Given the description of an element on the screen output the (x, y) to click on. 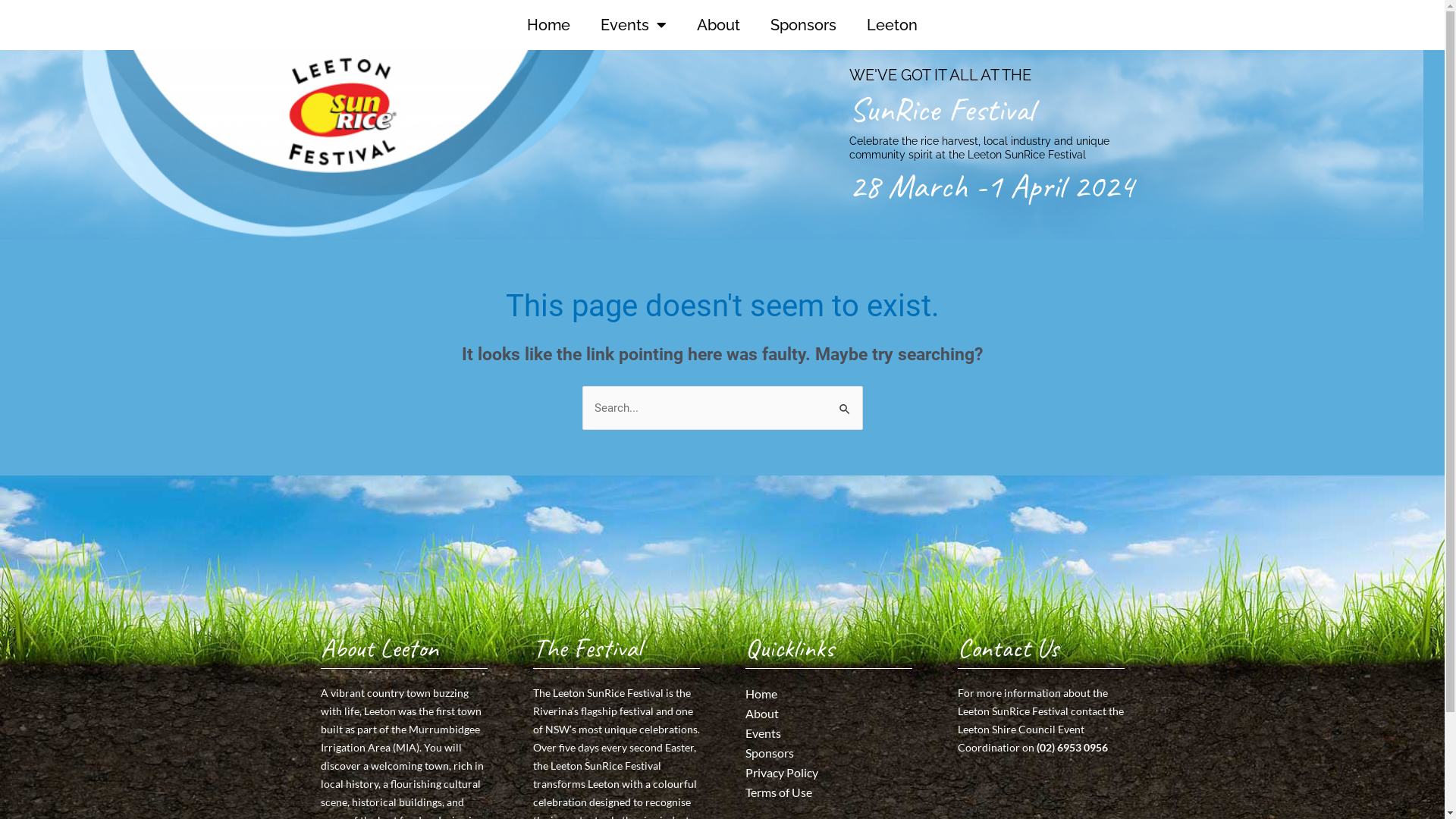
About Element type: text (827, 713)
Home Element type: text (548, 24)
About Element type: text (718, 24)
Sponsors Element type: text (803, 24)
Leeton Element type: text (891, 24)
Privacy Policy Element type: text (827, 772)
Terms of Use Element type: text (827, 792)
Search Element type: text (845, 400)
Sponsors Element type: text (827, 752)
Home Element type: text (827, 693)
Events Element type: text (827, 733)
Events Element type: text (633, 24)
